Given the description of an element on the screen output the (x, y) to click on. 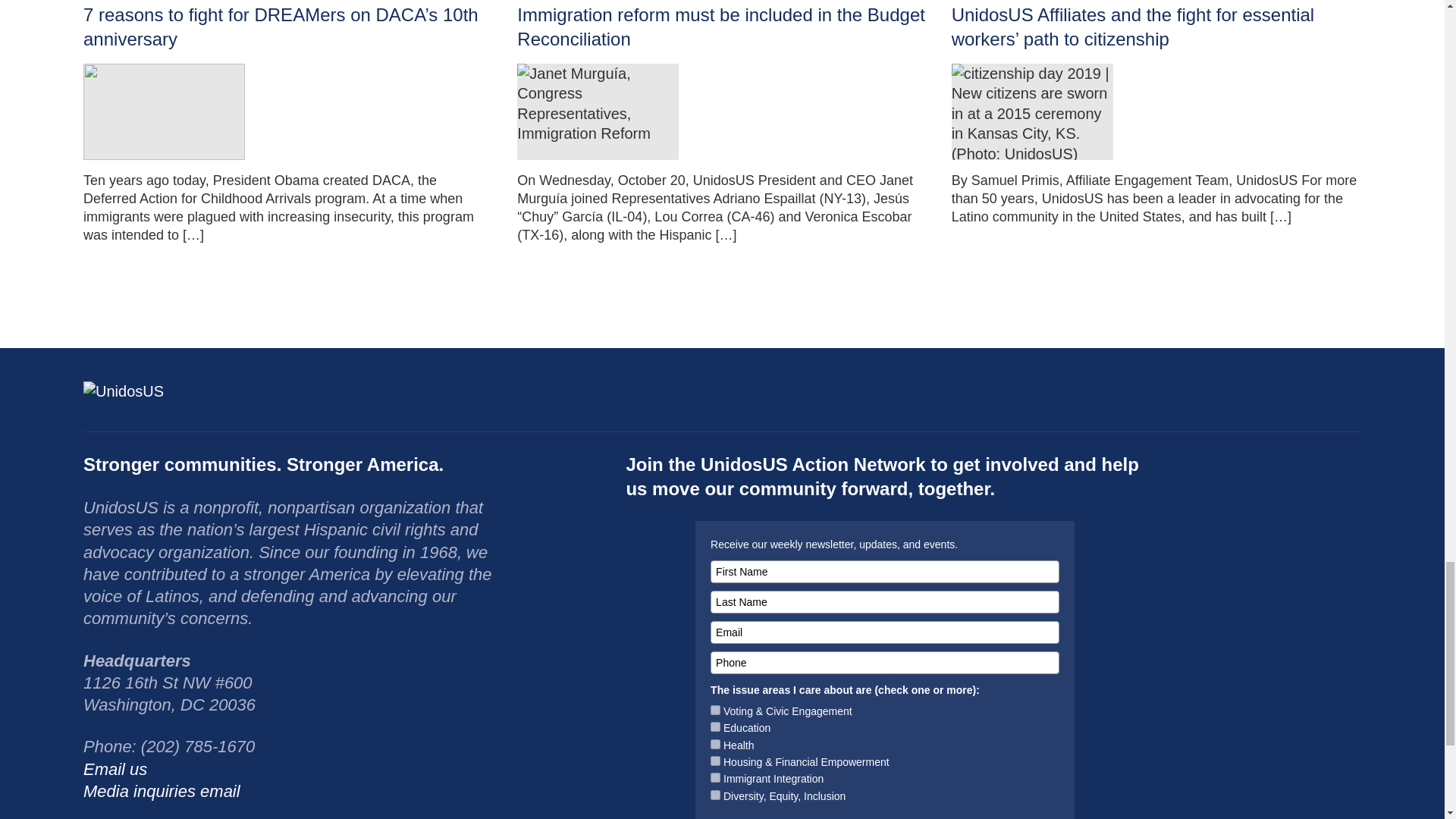
Diversity, Equity, Inclusion (715, 795)
Health (715, 744)
Immigrant Integration (715, 777)
Education (715, 726)
Email us (114, 769)
Media inquiries email (161, 791)
